Given the description of an element on the screen output the (x, y) to click on. 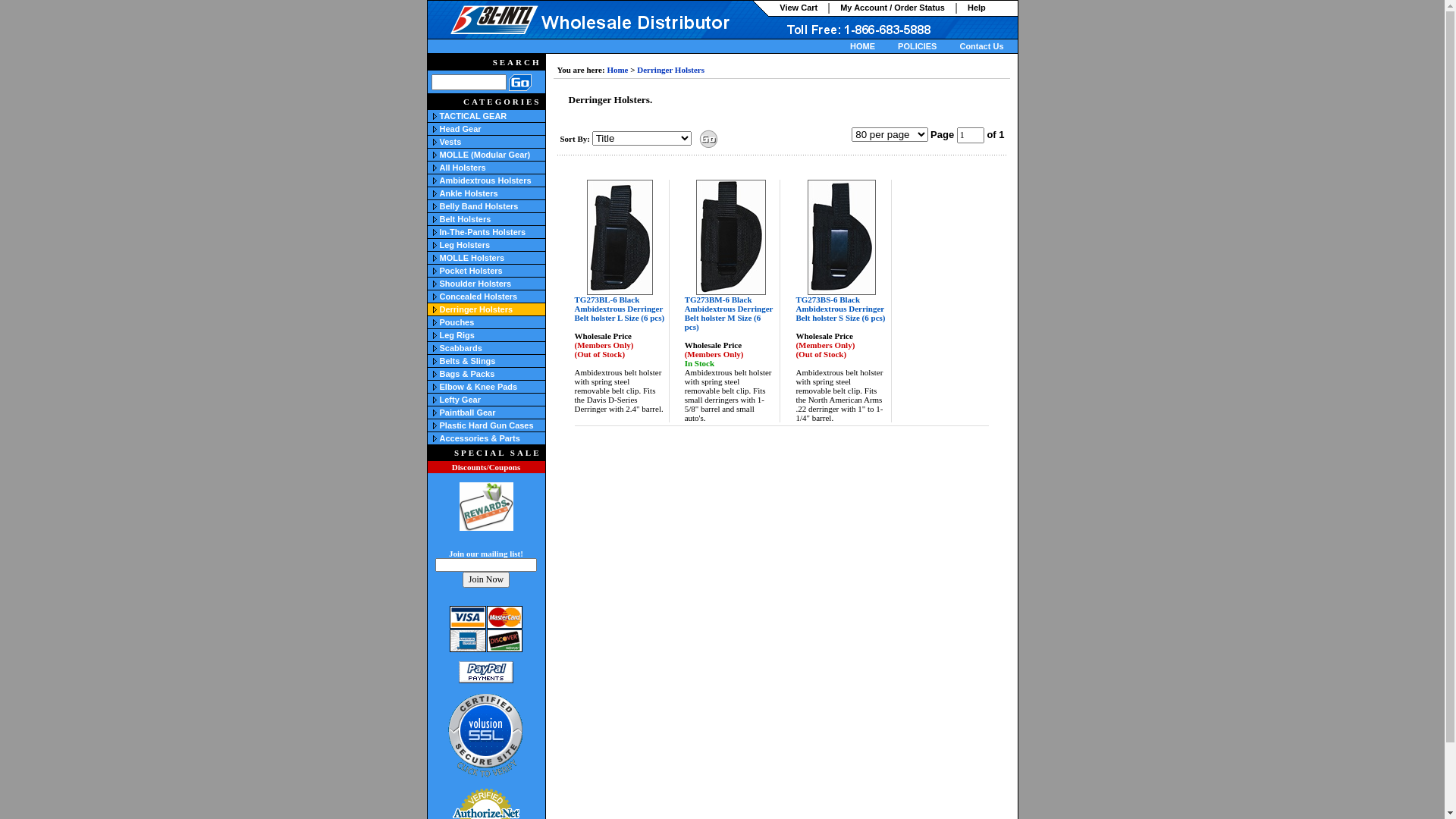
Pouches Element type: text (492, 322)
Wholesale Ankle Holsters Element type: hover (433, 192)
Wholesale Belly Band Holsters Element type: hover (433, 205)
MetaTag_Title Element type: hover (560, 34)
View Cart Element type: text (798, 7)
Ankle Holsters Element type: text (468, 192)
Vests Element type: text (492, 141)
Wholesale Pocket Holsters Element type: hover (433, 269)
Accessories & Parts Element type: text (479, 437)
Bags & Packs Element type: text (492, 373)
Elbow & Knee Pads Element type: text (478, 386)
Go to page Element type: hover (970, 135)
Ankle Holsters Element type: text (492, 193)
Wholesale Shoulder Holsters Element type: hover (433, 282)
Pocket Holsters Element type: text (470, 270)
Wholesale MOLLE Holsters Element type: hover (433, 256)
Belly Band Holsters Element type: text (492, 206)
Wholesale Belts & Slings Element type: hover (433, 359)
Pocket Holsters Element type: text (492, 270)
Plastic Hard Gun Cases Element type: text (486, 424)
POLICIES Element type: text (916, 45)
Ambidextrous Holsters Element type: text (485, 180)
Vests Element type: text (450, 141)
Scabbards Element type: text (460, 347)
Bags & Packs Element type: text (467, 373)
Wholesale Belt Holsters Element type: hover (433, 217)
Paintball Gear Element type: hover (433, 411)
In-The-Pants Holsters Element type: text (492, 231)
Leg Holsters Element type: text (492, 244)
Accessories & Parts Element type: hover (433, 437)
Ambidextrous Holsters Element type: text (492, 180)
Lefty Gear Element type: text (459, 399)
MOLLE (Modular Gear) Element type: text (484, 154)
Belts & Slings Element type: text (492, 360)
Contact Us Element type: text (981, 45)
Wholesale Tactical Gear Element type: hover (433, 114)
Leg Rigs Element type: text (456, 334)
Derringer Holsters Element type: text (476, 308)
Lefty Gear Element type: hover (433, 398)
MOLLE Holsters Element type: text (492, 257)
MOLLE (Modular Gear) Element type: text (492, 154)
Concealed Holsters Element type: text (478, 296)
Home Element type: text (616, 69)
All Holsters Element type: text (462, 167)
Leg Rigs Element type: hover (433, 333)
Accessories & Parts Element type: text (492, 438)
In-The-Pants Holsters Element type: text (482, 231)
Belts & Slings Element type: text (467, 360)
TACTICAL GEAR Element type: text (492, 115)
Derringer Holsters Element type: text (492, 309)
Wholesale In-The-Pants Holsters Element type: hover (433, 230)
(Members Only) Element type: text (713, 353)
Help Element type: text (976, 7)
Concealed Carry Holsters Element type: hover (433, 295)
Derringer Holsters Element type: text (670, 69)
Heavy Duty Plastic Molding Gun Cases Element type: hover (433, 424)
HOME Element type: text (862, 45)
Scabbards Element type: text (492, 348)
Wholesale backpacks, rifle Bags & Packs Element type: hover (433, 372)
Head Gear Element type: text (492, 128)
Head Gear helmet mask goggles Element type: hover (433, 127)
Pouches Element type: text (456, 321)
Leg Holsters Element type: text (464, 244)
Paintball Gear Element type: text (492, 412)
Belt Holsters Element type: text (492, 219)
TACTICAL GEAR Element type: text (473, 115)
Head Gear Element type: text (460, 128)
Belt Holsters Element type: text (465, 218)
Leg Rigs Element type: text (492, 335)
Lefty Gear Element type: text (492, 399)
Elbow & Knee Pads Element type: text (492, 386)
Shoulder Holsters Element type: text (492, 283)
MOLLE Holsters Element type: text (472, 257)
Elbow & Knee Pads Element type: hover (433, 385)
Join Now Element type: text (485, 579)
Wholesale Pouches Element type: hover (433, 321)
Shoulder Holsters Element type: text (475, 283)
(Members Only) Element type: text (603, 344)
Wholesale Tactical Vests Element type: hover (433, 140)
All Holsters Element type: text (492, 167)
(Members Only) Element type: text (824, 344)
Wholesale Shotgun Scabbards Element type: hover (433, 346)
Wholesale Holsters Element type: hover (433, 166)
Discounts/Coupons Element type: text (485, 466)
Wholesale Ambidextrous Holsters Element type: hover (433, 179)
Plastic Hard Gun Cases Element type: text (492, 425)
Wholesale MOLLE (Modular Gear) Element type: hover (433, 153)
Concealed Holsters Element type: text (492, 296)
Paintball Gear Element type: text (467, 412)
wholesale Derringer Holsters Element type: hover (433, 308)
My Account / Order Status Element type: text (892, 7)
Wholesale Drop Leg Holsters Element type: hover (433, 243)
Belly Band Holsters Element type: text (478, 205)
